Given the description of an element on the screen output the (x, y) to click on. 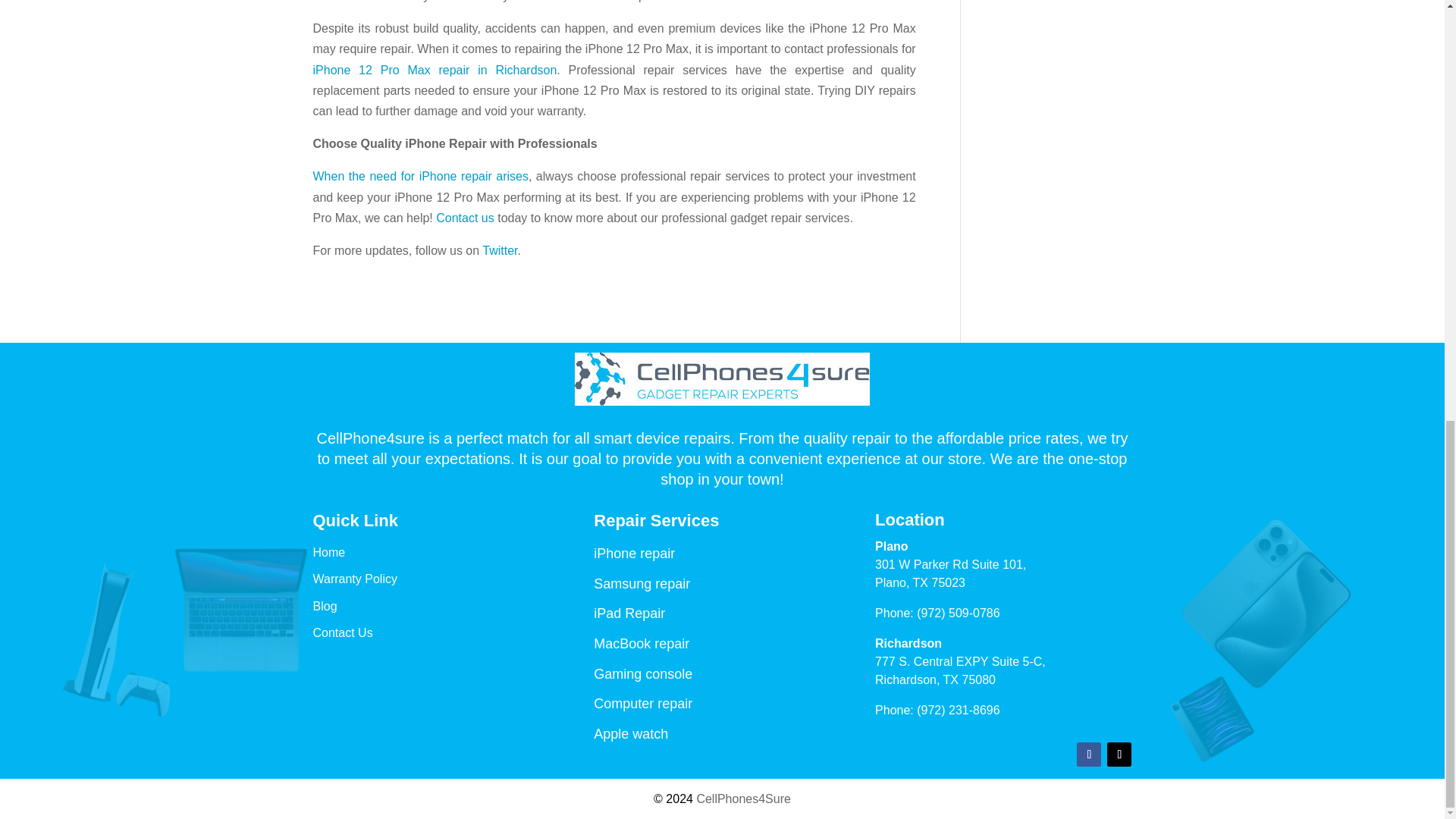
Follow on Facebook (1088, 754)
Follow on X (1118, 754)
logo (722, 378)
